Given the description of an element on the screen output the (x, y) to click on. 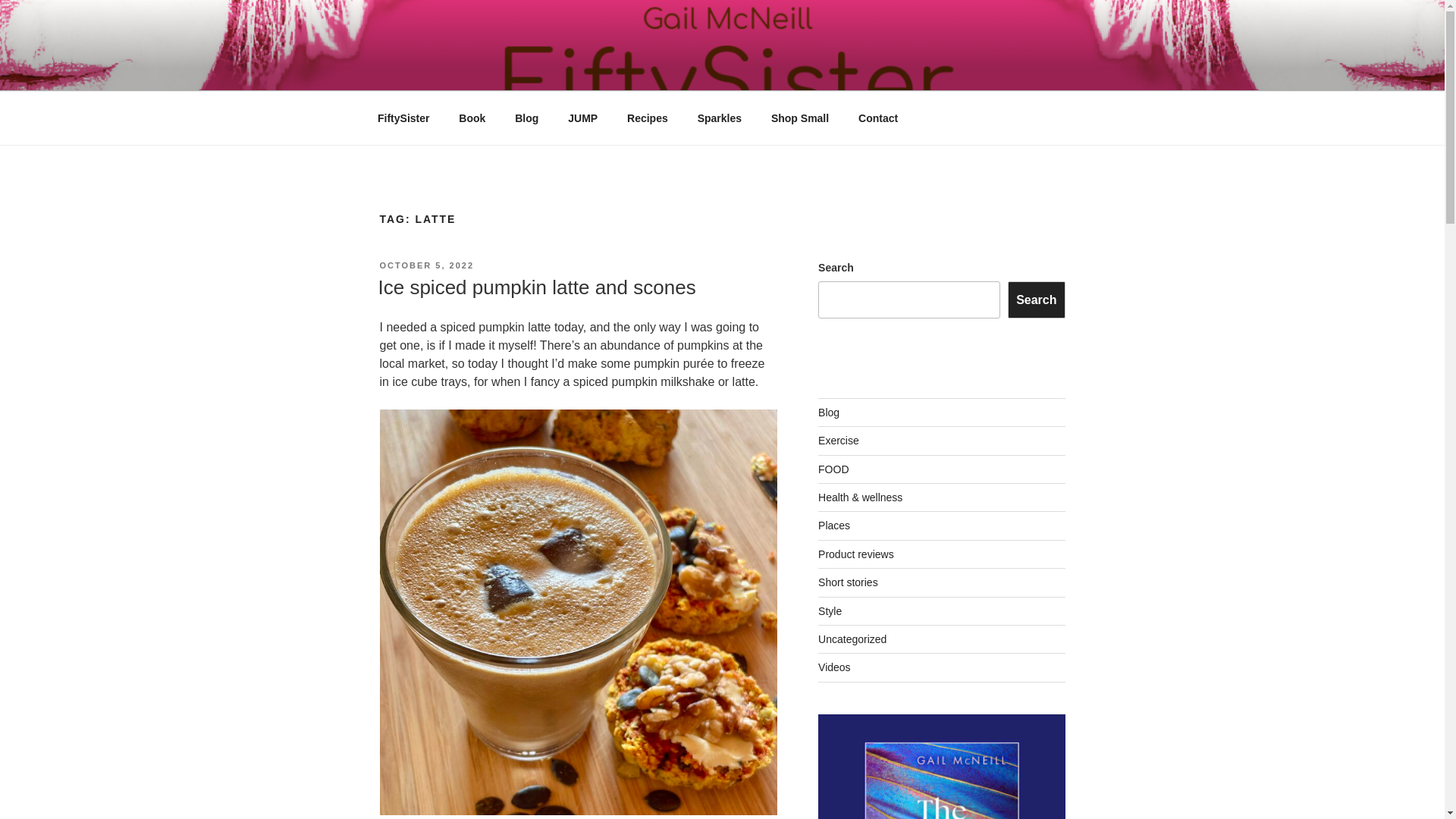
Sparkles (719, 118)
Exercise (838, 440)
FiftySister (403, 118)
Search (1035, 299)
FOOD (833, 469)
JUMP (582, 118)
Recipes (647, 118)
Book (472, 118)
Ice spiced pumpkin latte and scones (536, 287)
Blog (526, 118)
Places (834, 525)
OCTOBER 5, 2022 (426, 265)
Blog (829, 412)
Shop Small (799, 118)
Contact (878, 118)
